Given the description of an element on the screen output the (x, y) to click on. 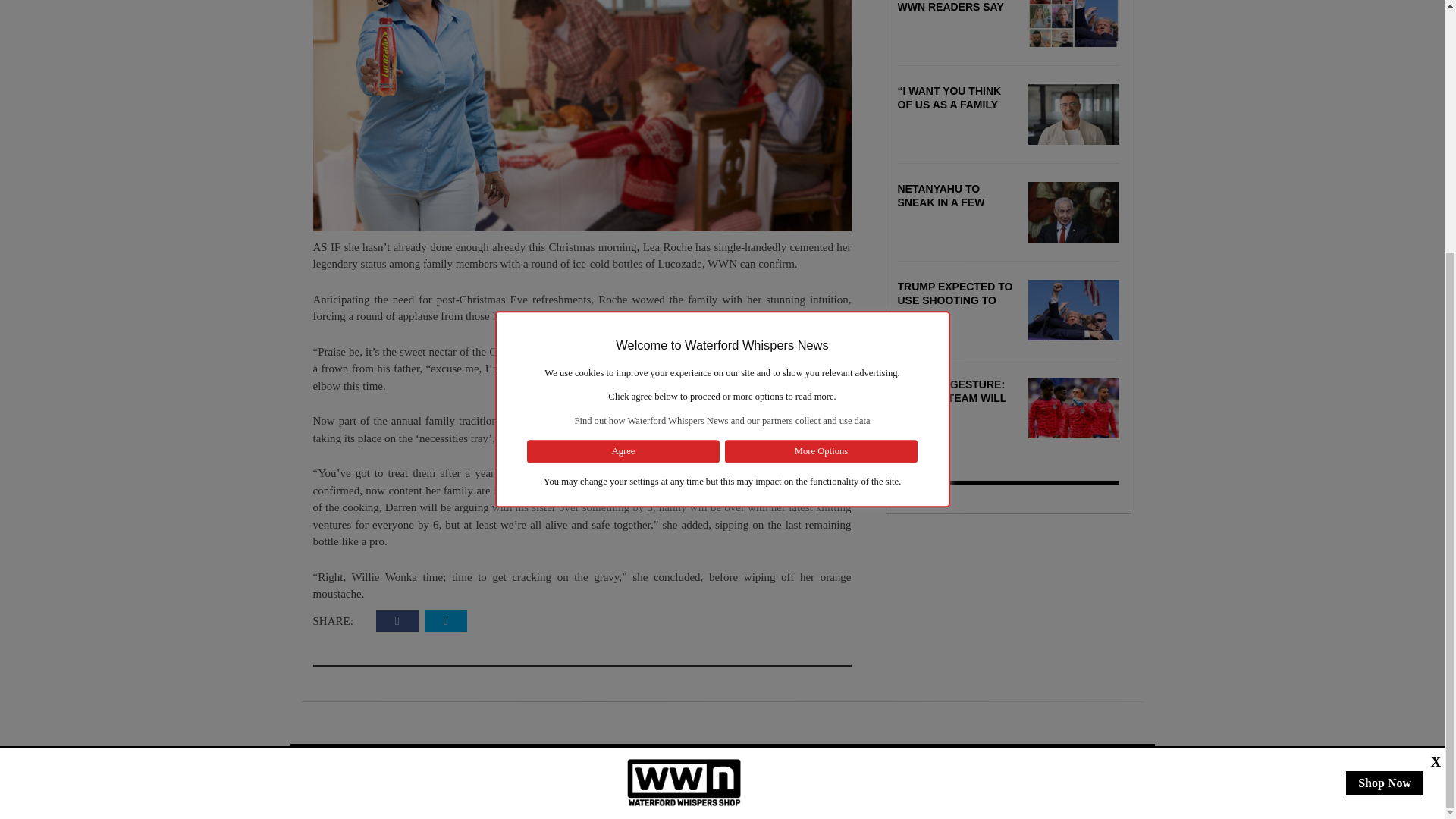
Support us on waterfordwhispers.shop (684, 426)
